Given the description of an element on the screen output the (x, y) to click on. 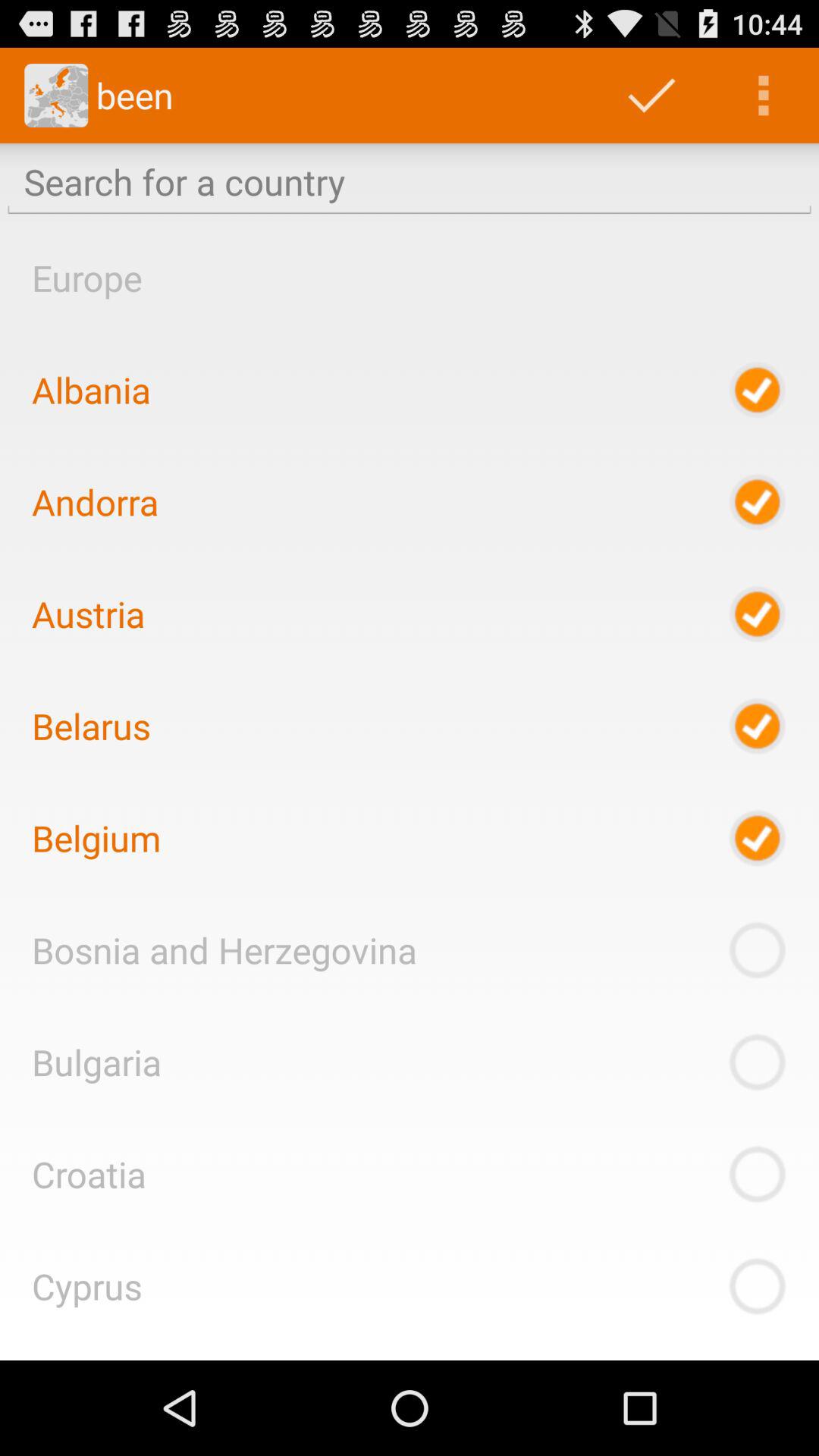
select item below the albania item (94, 501)
